Given the description of an element on the screen output the (x, y) to click on. 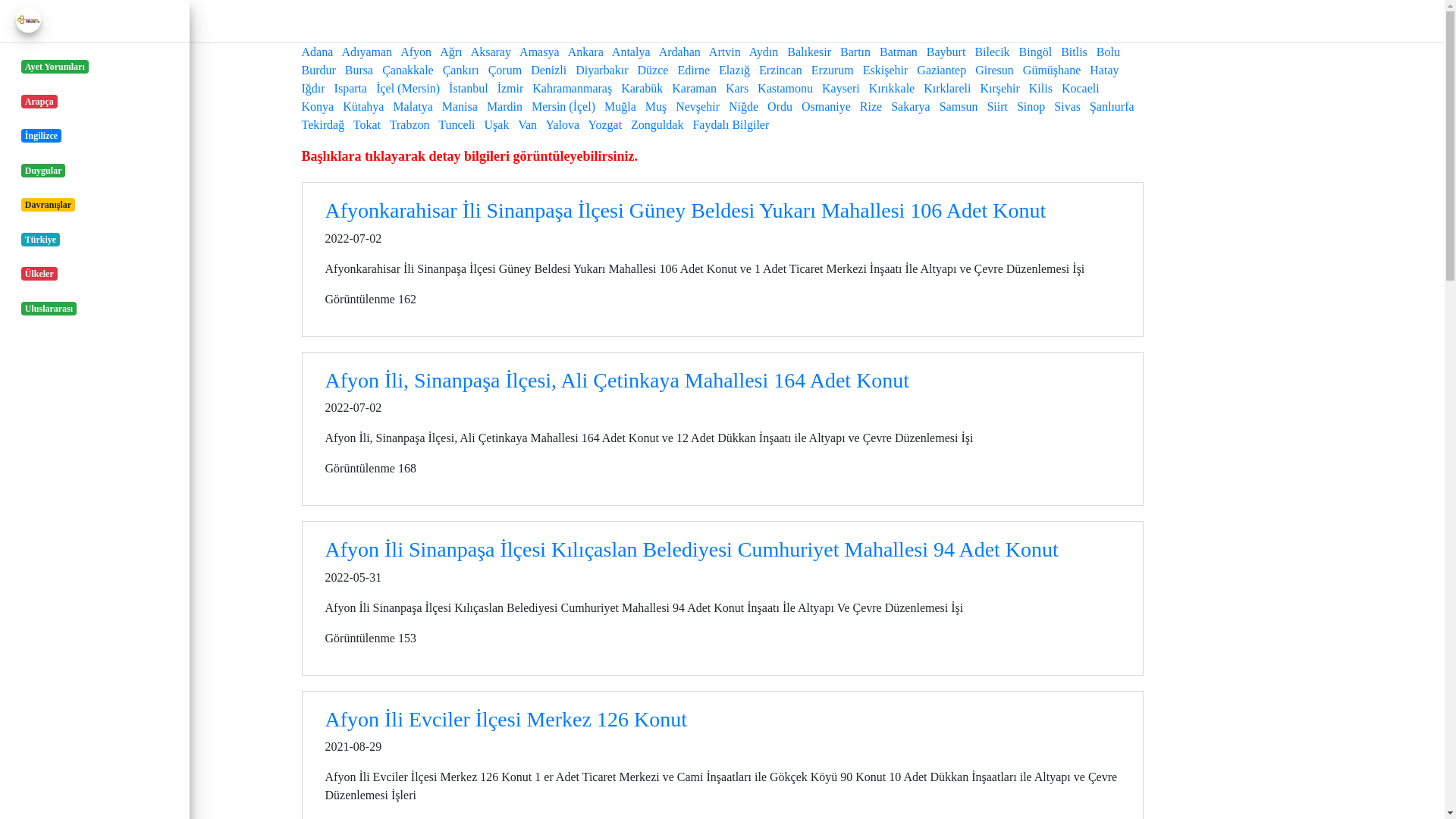
Yalova Element type: text (562, 124)
Ana sayfa Element type: text (111, 21)
Bolu Element type: text (1108, 51)
Bayburt Element type: text (946, 51)
Sinop Element type: text (1030, 106)
Siirt Element type: text (996, 106)
Gaziantep Element type: text (941, 69)
Amasya Element type: text (538, 51)
Van Element type: text (526, 124)
Kilis Element type: text (1040, 87)
Trabzon Element type: text (409, 124)
Erzincan Element type: text (780, 69)
Sakarya Element type: text (910, 106)
Kayseri Element type: text (840, 87)
Afyon Element type: text (415, 51)
Batman Element type: text (898, 51)
Tokat Element type: text (366, 124)
Yozgat Element type: text (604, 124)
Konya Element type: text (317, 106)
Mardin Element type: text (504, 106)
Isparta Element type: text (350, 87)
Bitlis Element type: text (1073, 51)
Kocaeli Element type: text (1080, 87)
Kastamonu Element type: text (784, 87)
Bursa Element type: text (359, 69)
Ankara Element type: text (585, 51)
Artvin Element type: text (724, 51)
Erzurum Element type: text (832, 69)
Bilecik Element type: text (991, 51)
Sivas Element type: text (1067, 106)
Adana Element type: text (317, 51)
Burdur Element type: text (318, 69)
Rize Element type: text (870, 106)
Edirne Element type: text (693, 69)
Antalya Element type: text (630, 51)
Giresun Element type: text (994, 69)
Samsun Element type: text (958, 106)
Zonguldak Element type: text (656, 124)
Kars Element type: text (736, 87)
Aksaray Element type: text (490, 51)
Malatya Element type: text (412, 106)
Karaman Element type: text (693, 87)
Ordu Element type: text (779, 106)
Osmaniye Element type: text (825, 106)
Hatay Element type: text (1103, 69)
Denizli Element type: text (548, 69)
Duygular Element type: text (94, 169)
Tunceli Element type: text (456, 124)
Ardahan Element type: text (679, 51)
Manisa Element type: text (459, 106)
